Given the description of an element on the screen output the (x, y) to click on. 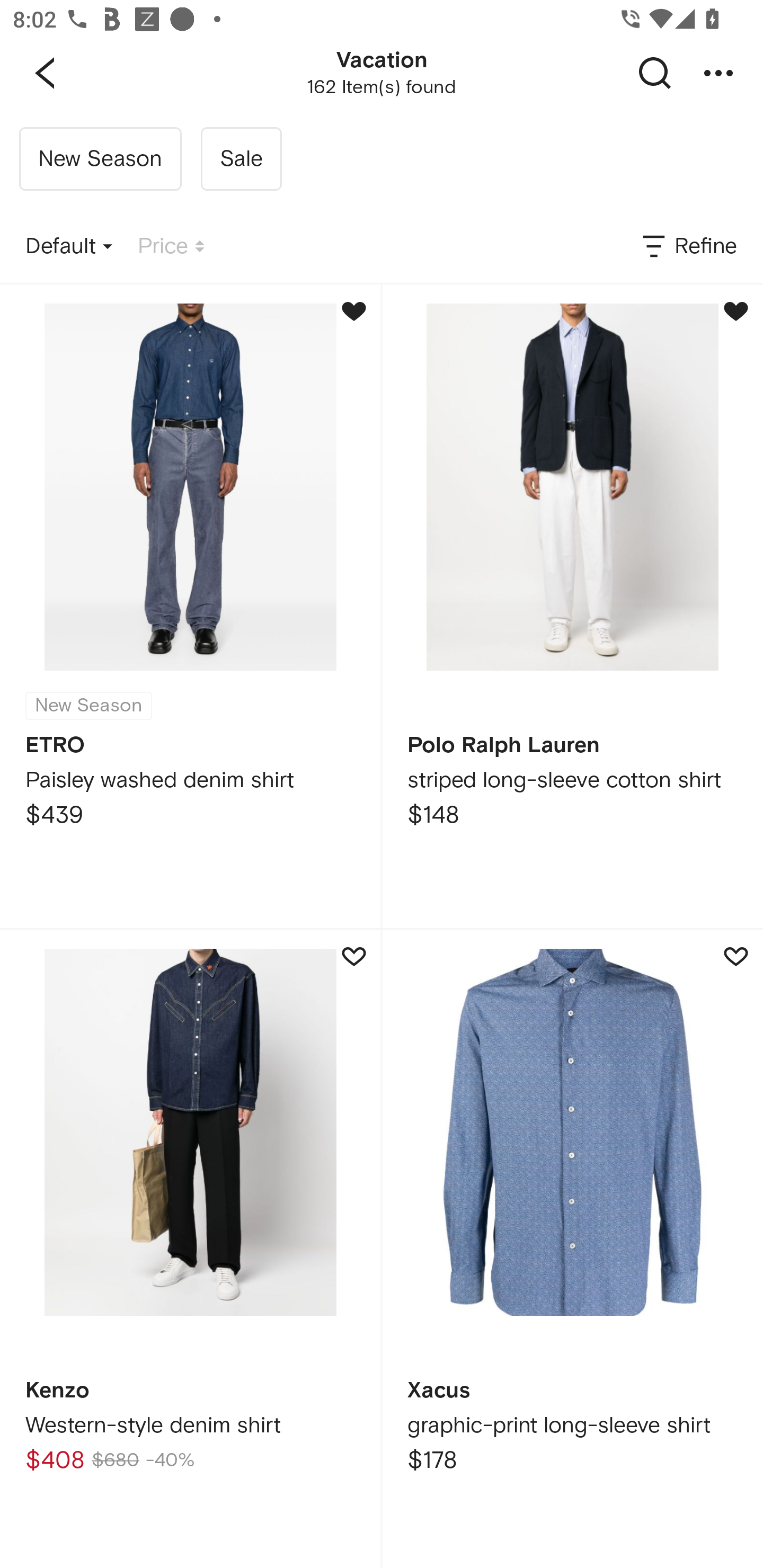
New Season (100, 158)
Sale (240, 158)
Default (68, 246)
Price (171, 246)
Refine (688, 246)
New Season ETRO Paisley washed denim shirt $439 (190, 605)
Kenzo Western-style denim shirt $408 $680 -40% (190, 1248)
Xacus graphic-print long-sleeve shirt $178 (572, 1248)
